Given the description of an element on the screen output the (x, y) to click on. 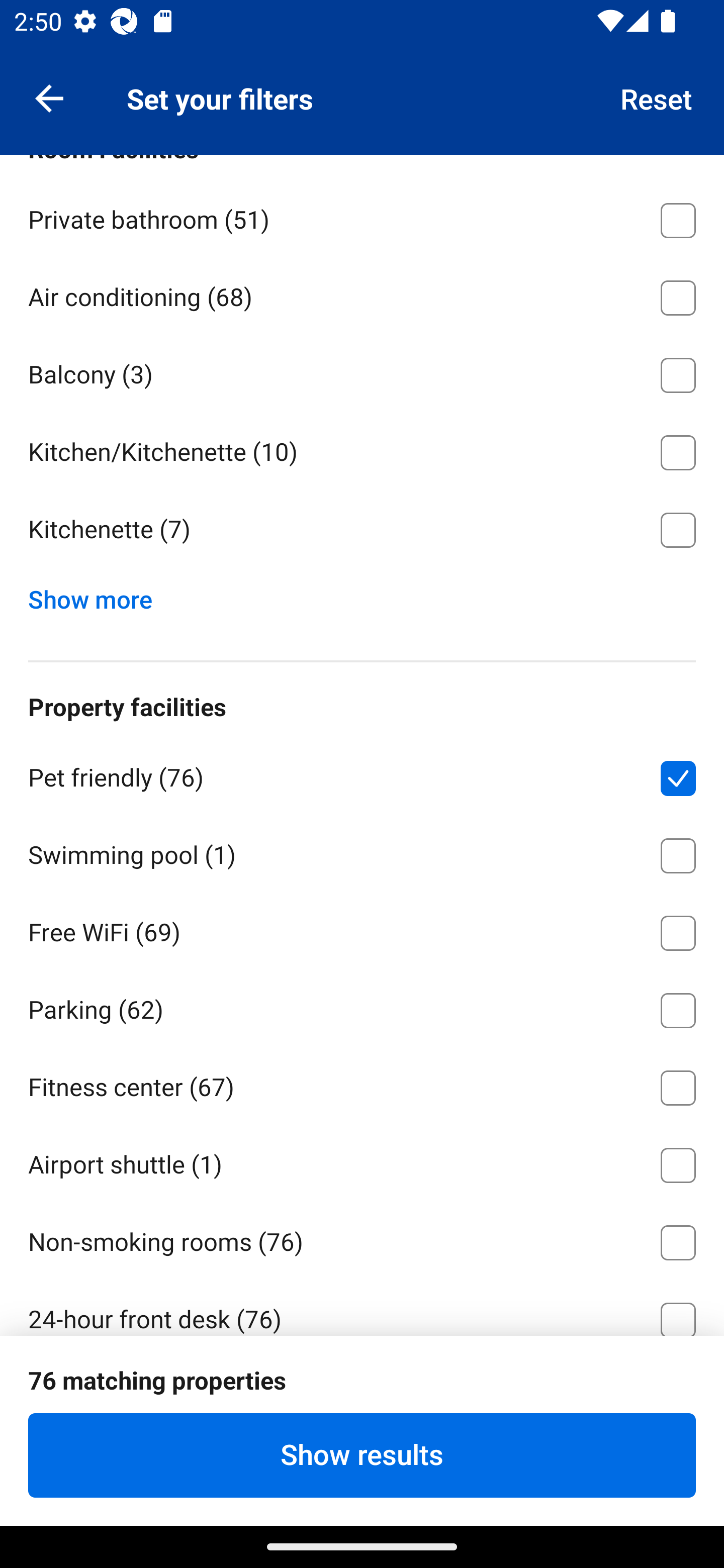
Navigate up (49, 97)
Reset (656, 97)
Private bathroom ⁦(51) (361, 216)
Air conditioning ⁦(68) (361, 293)
Balcony ⁦(3) (361, 371)
Kitchen/Kitchenette ⁦(10) (361, 448)
Kitchenette ⁦(7) (361, 529)
Show more (97, 594)
Pet friendly ⁦(76) (361, 774)
Swimming pool ⁦(1) (361, 851)
Free WiFi ⁦(69) (361, 929)
Parking ⁦(62) (361, 1007)
Fitness center ⁦(67) (361, 1083)
Airport shuttle ⁦(1) (361, 1161)
Non-smoking rooms ⁦(76) (361, 1239)
24-hour front desk ⁦(76) (361, 1306)
Restaurant ⁦(46) (361, 1393)
Show results (361, 1454)
